Given the description of an element on the screen output the (x, y) to click on. 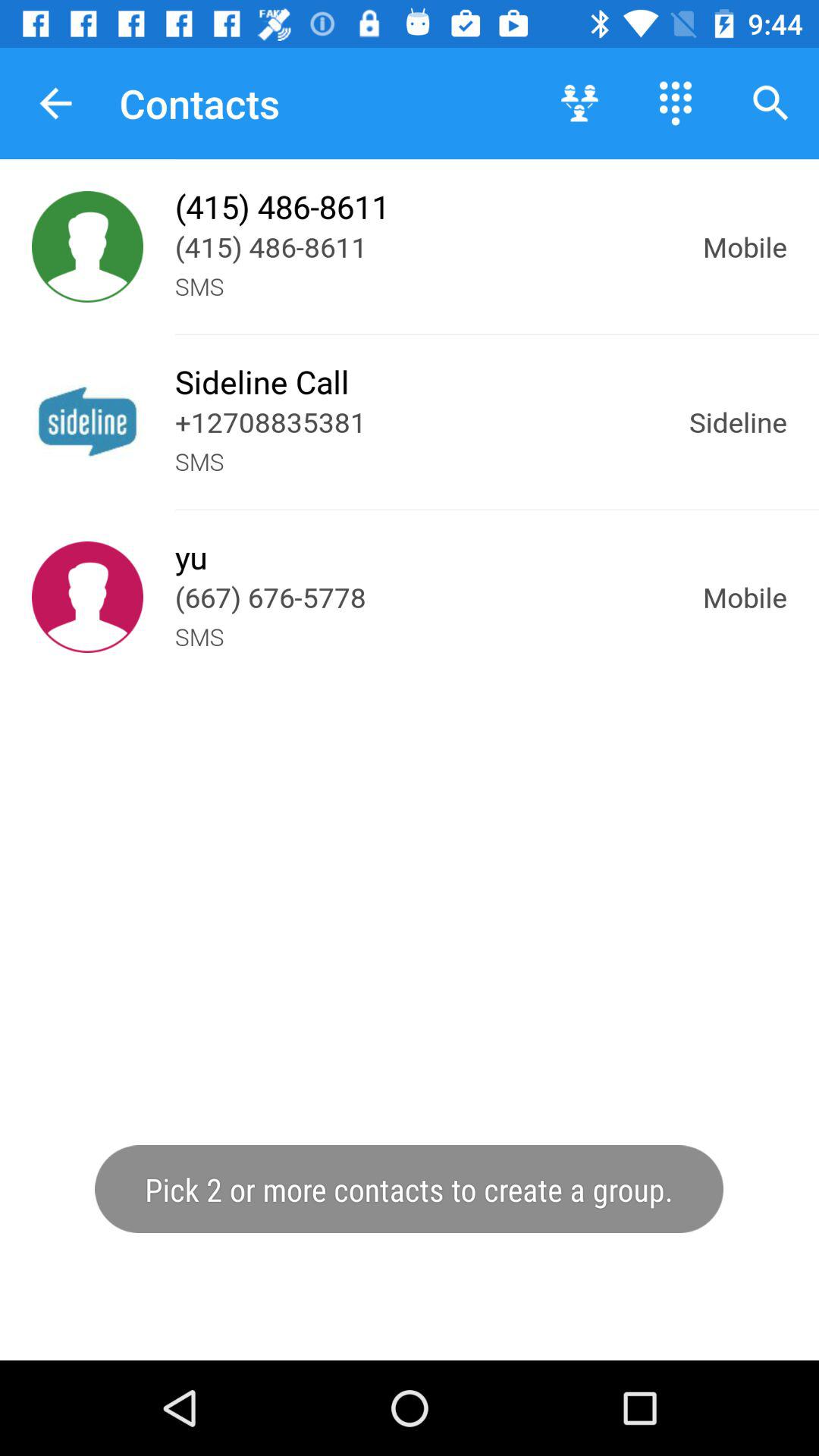
shows contact information (87, 246)
